Given the description of an element on the screen output the (x, y) to click on. 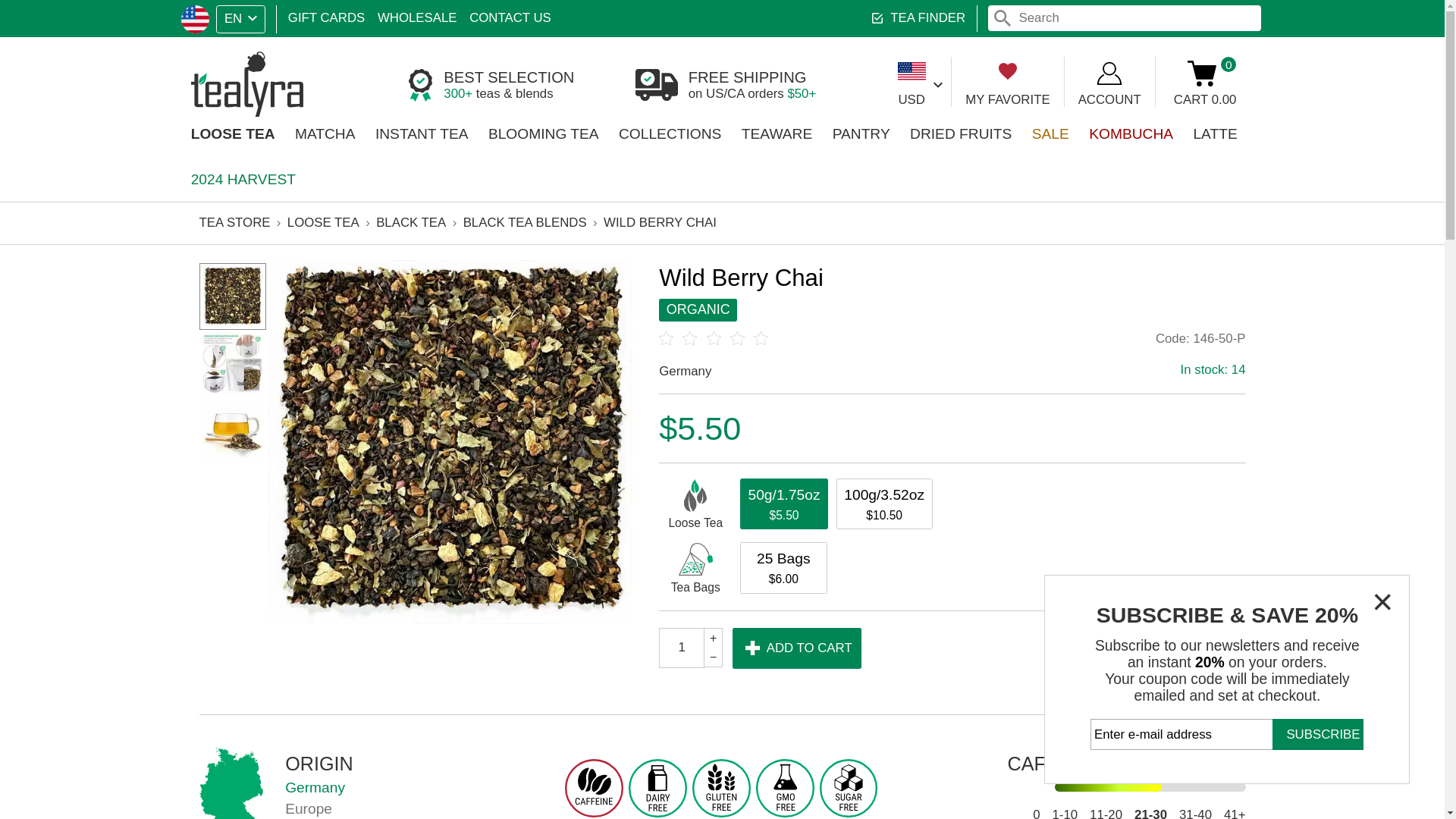
Tealyra (207, 70)
GIFT CARDS (272, 15)
TEA FINDER (764, 15)
EN (200, 15)
WHOLESALE (347, 15)
MY FAVORITE (839, 68)
CONTACT US (1004, 68)
US (425, 15)
ACCOUNT (162, 15)
